Given the description of an element on the screen output the (x, y) to click on. 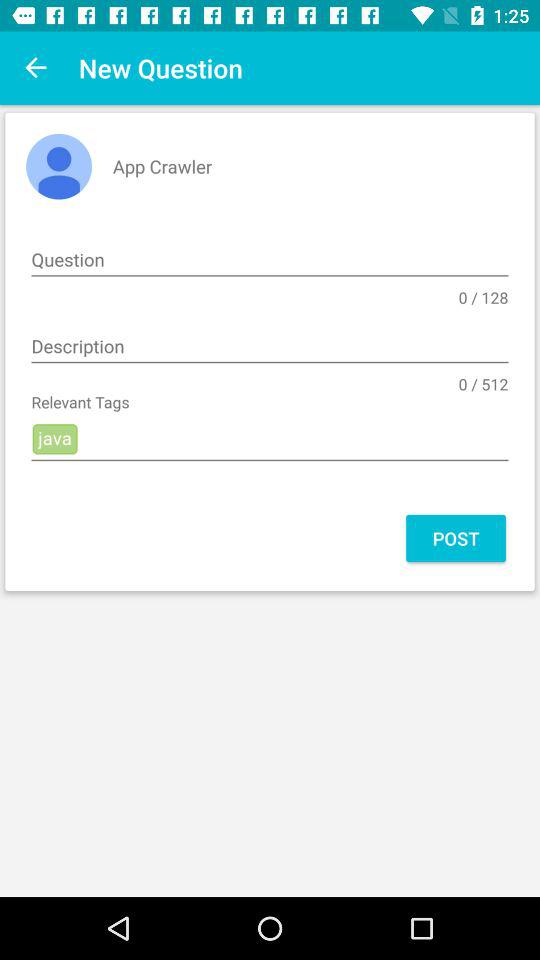
click app below the 0 / 512 app (269, 439)
